Given the description of an element on the screen output the (x, y) to click on. 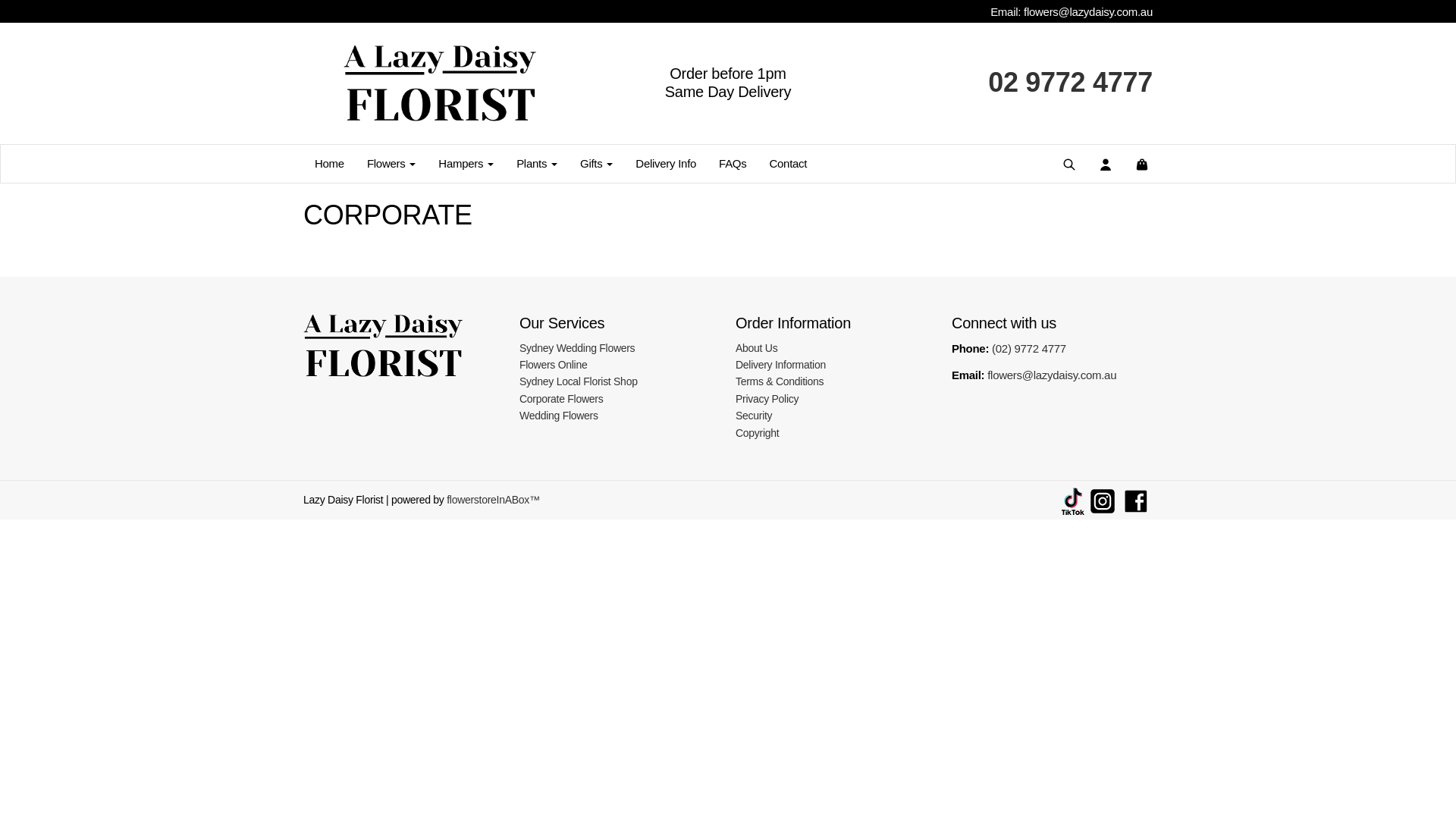
Gifts Element type: text (596, 163)
About Us Element type: text (756, 348)
facebook Element type: text (1135, 499)
flowers@lazydaisy.com.au Element type: text (1087, 11)
FAQs Element type: text (732, 163)
Privacy Policy Element type: text (766, 398)
Contact Element type: text (787, 163)
Hampers Element type: text (465, 163)
Copyright Element type: text (756, 432)
Wedding Flowers Element type: text (558, 415)
02 9772 4777 Element type: text (1070, 81)
Terms & Conditions Element type: text (779, 381)
Sydney Wedding Flowers Element type: text (576, 348)
Sydney Local Florist Shop Element type: text (578, 381)
Delivery Information Element type: text (780, 364)
Lazy Daisy Florist Element type: hover (439, 83)
Flowers Element type: text (390, 163)
Security Element type: text (753, 415)
Corporate Flowers Element type: text (560, 398)
(02) 9772 4777 Element type: text (1028, 348)
Plants Element type: text (536, 163)
Flowers Online Element type: text (552, 364)
flowers@lazydaisy.com.au Element type: text (1051, 374)
Delivery Info Element type: text (665, 163)
Home Element type: text (329, 163)
